Given the description of an element on the screen output the (x, y) to click on. 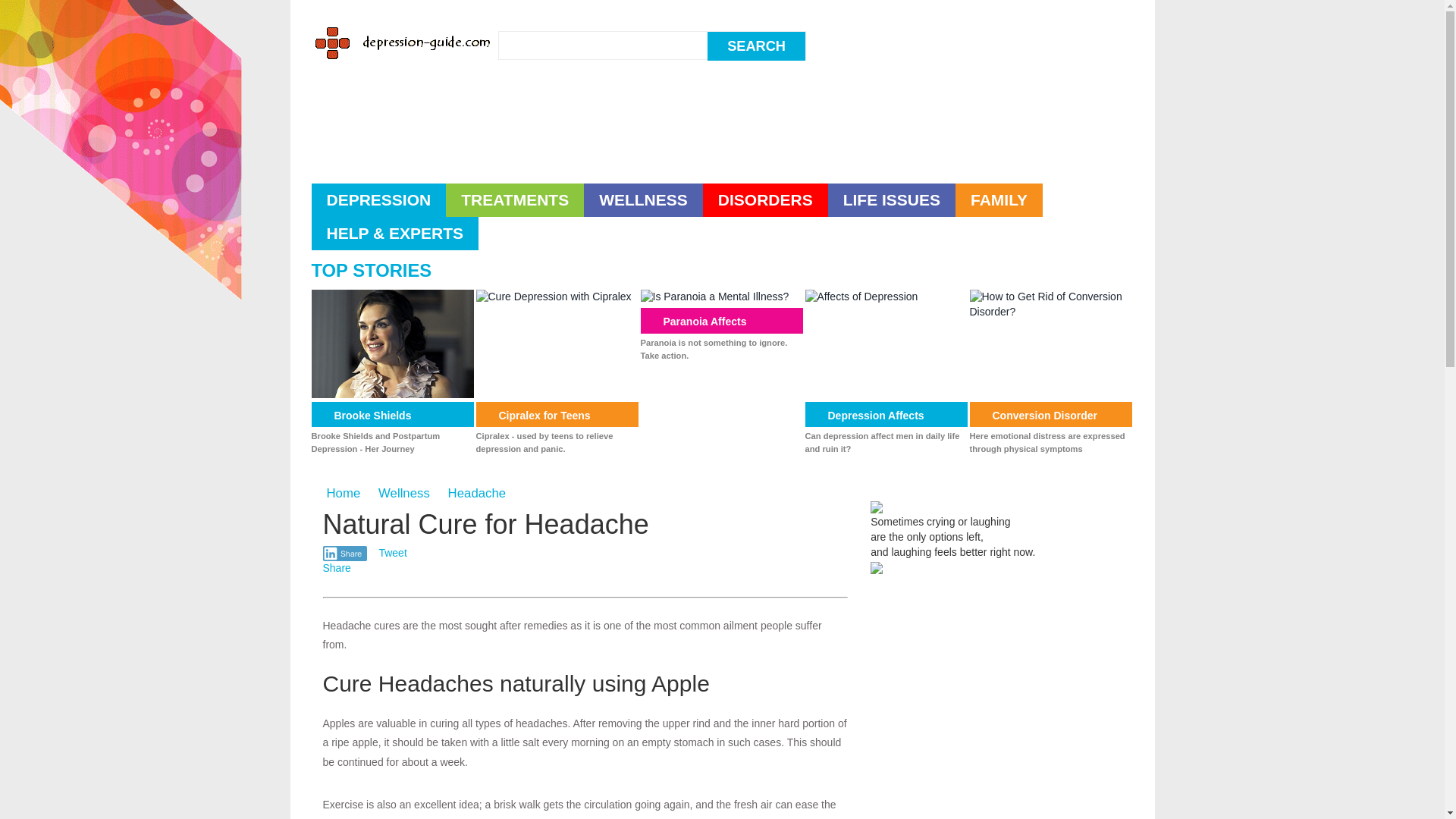
SEARCH (756, 45)
TREATMENTS (514, 200)
DISORDERS (765, 200)
LIFE ISSUES (891, 200)
SEARCH (756, 45)
WELLNESS (643, 200)
DEPRESSION (378, 200)
